Given the description of an element on the screen output the (x, y) to click on. 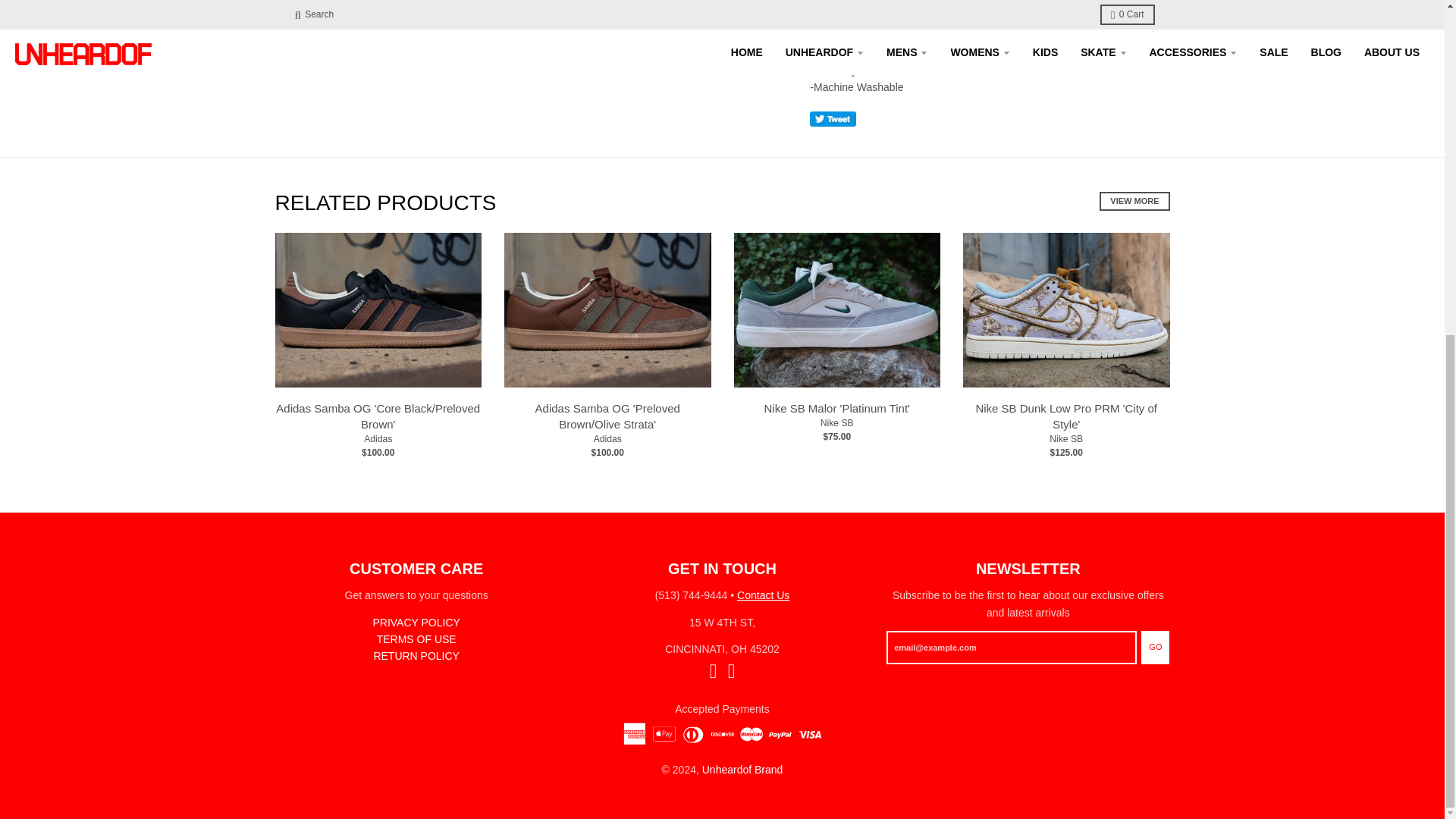
Adidas (377, 439)
Nike SB (837, 422)
Nike SB (1066, 439)
Adidas (607, 439)
